Given the description of an element on the screen output the (x, y) to click on. 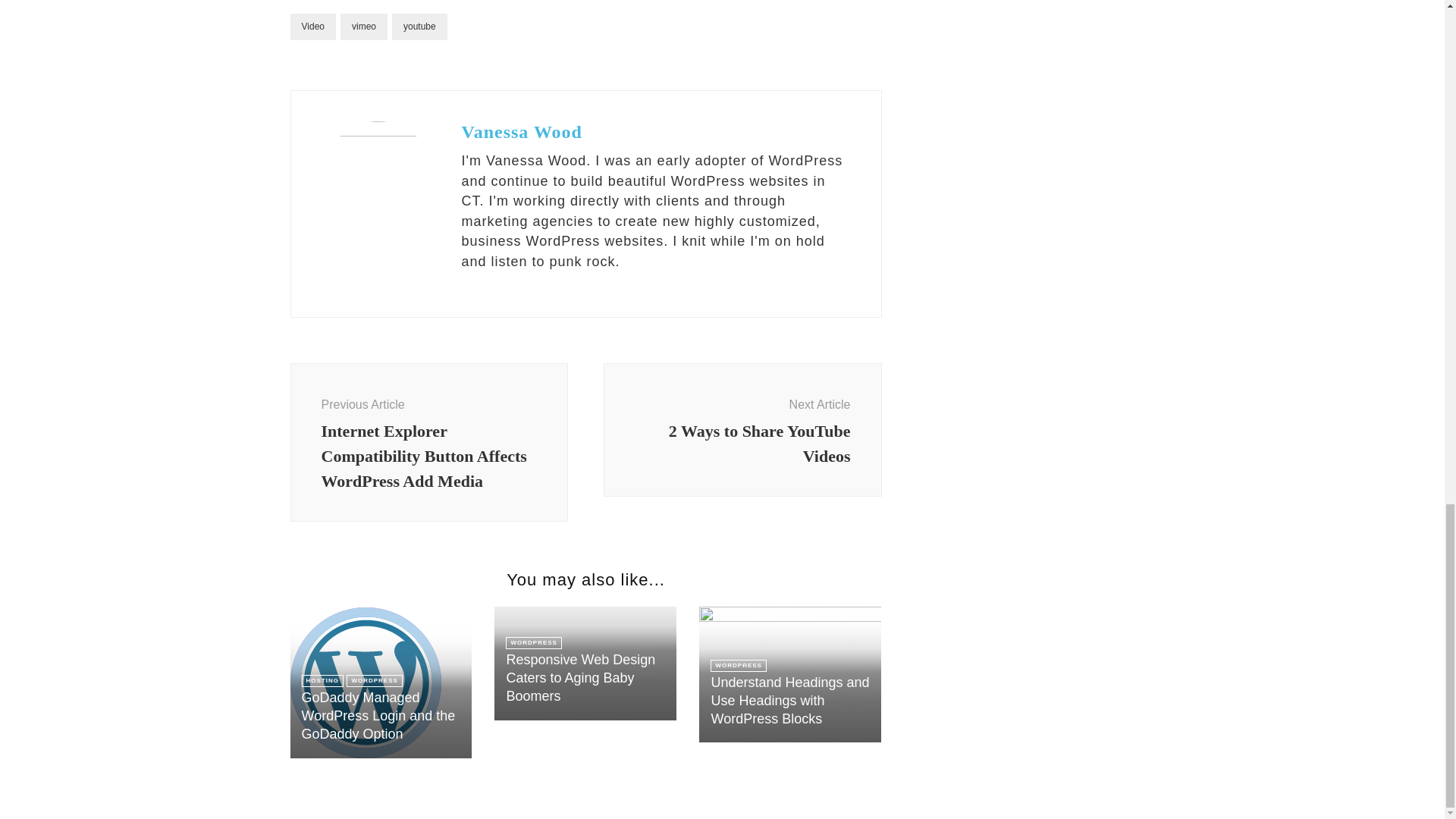
Video (311, 26)
HOSTING (322, 680)
WORDPRESS (373, 680)
vimeo (363, 26)
GoDaddy Managed WordPress Login and the GoDaddy Option (743, 429)
WORDPRESS (378, 716)
youtube (532, 643)
